Given the description of an element on the screen output the (x, y) to click on. 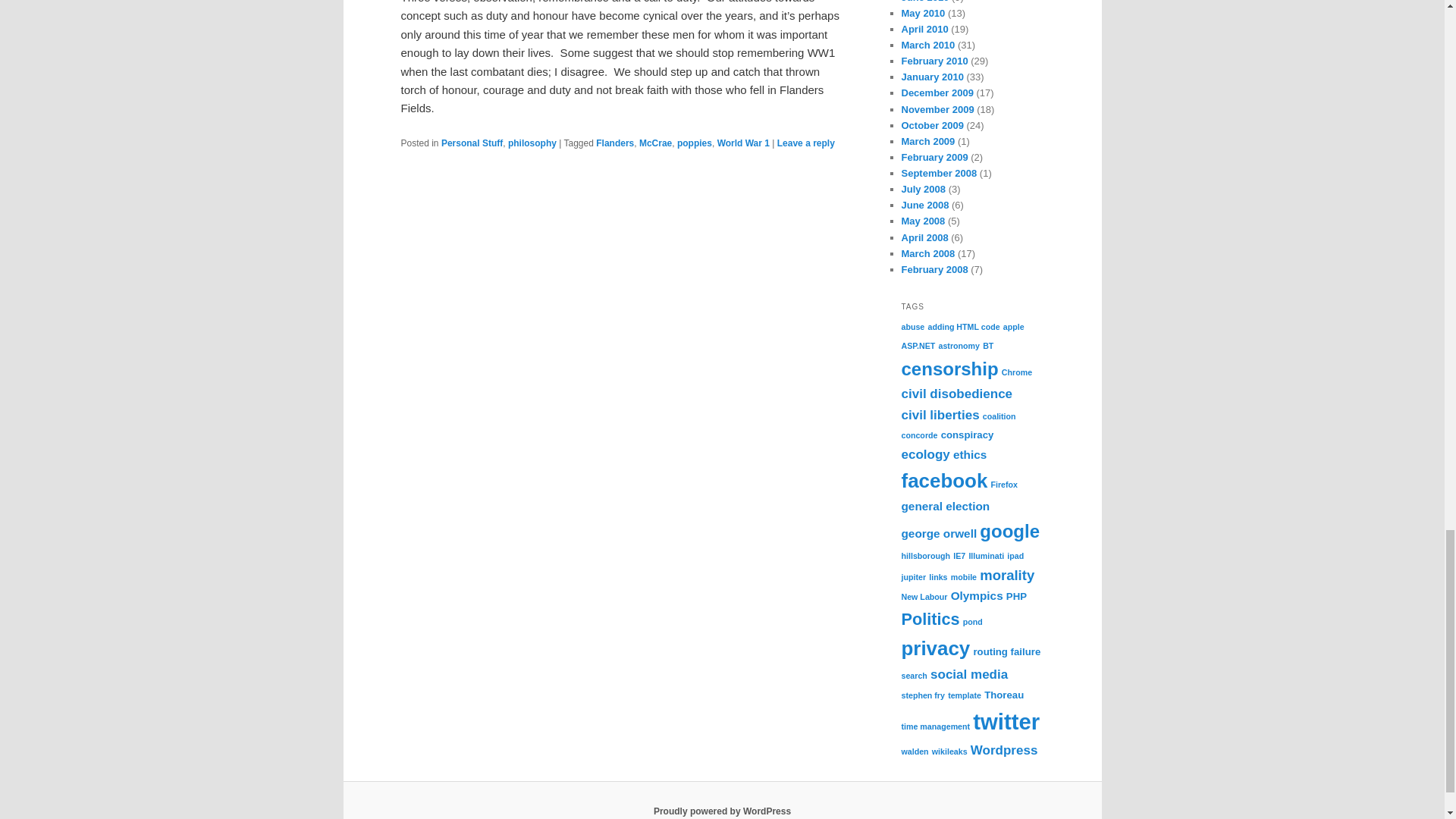
poppies (694, 143)
Flanders (614, 143)
McCrae (655, 143)
World War 1 (743, 143)
Personal Stuff (471, 143)
Leave a reply (805, 143)
Semantic Personal Publishing Platform (721, 810)
philosophy (532, 143)
